Given the description of an element on the screen output the (x, y) to click on. 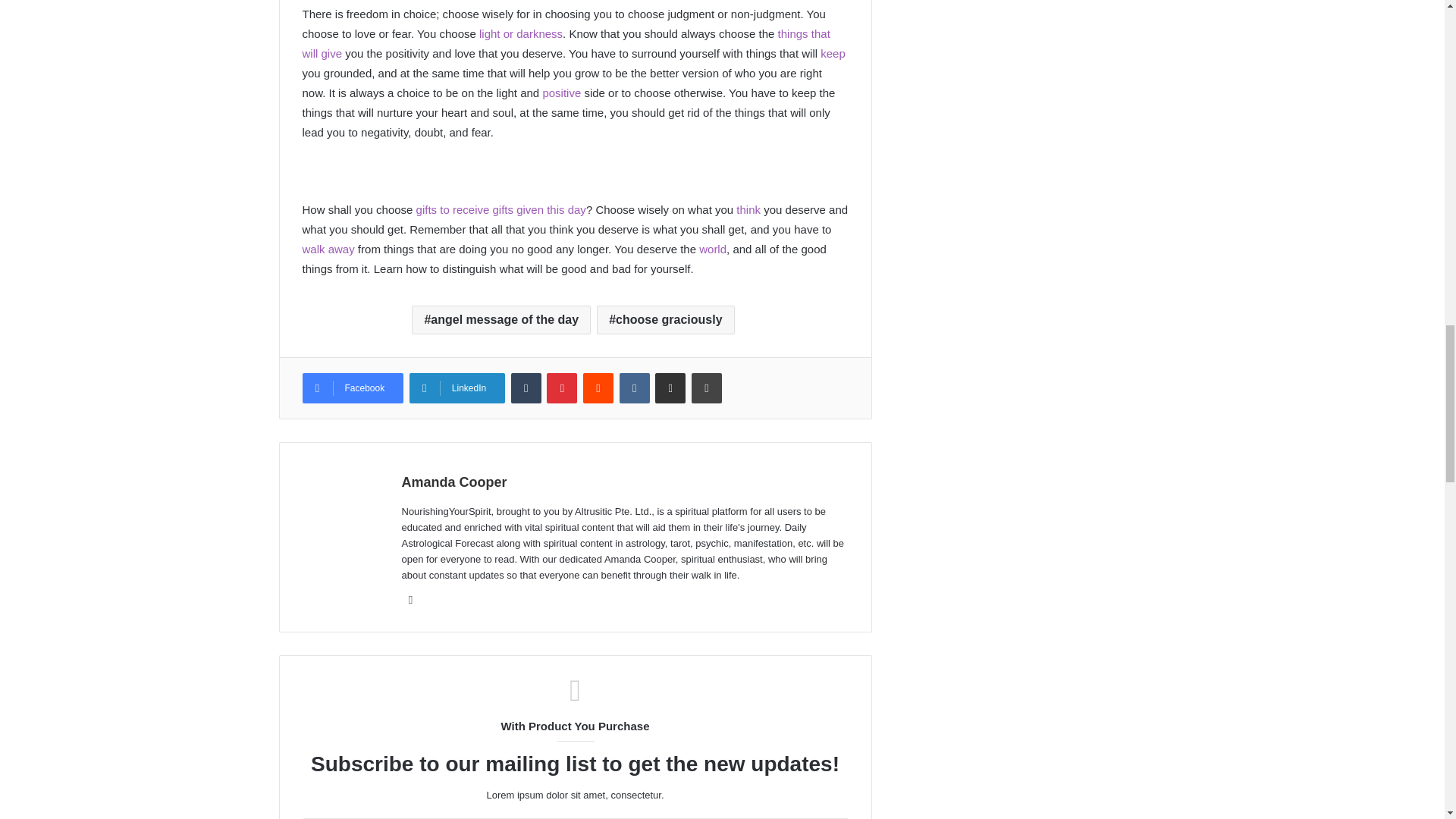
LinkedIn (457, 388)
Reddit (597, 388)
VKontakte (634, 388)
Facebook (352, 388)
Tumblr (526, 388)
Pinterest (561, 388)
Share via Email (670, 388)
